Given the description of an element on the screen output the (x, y) to click on. 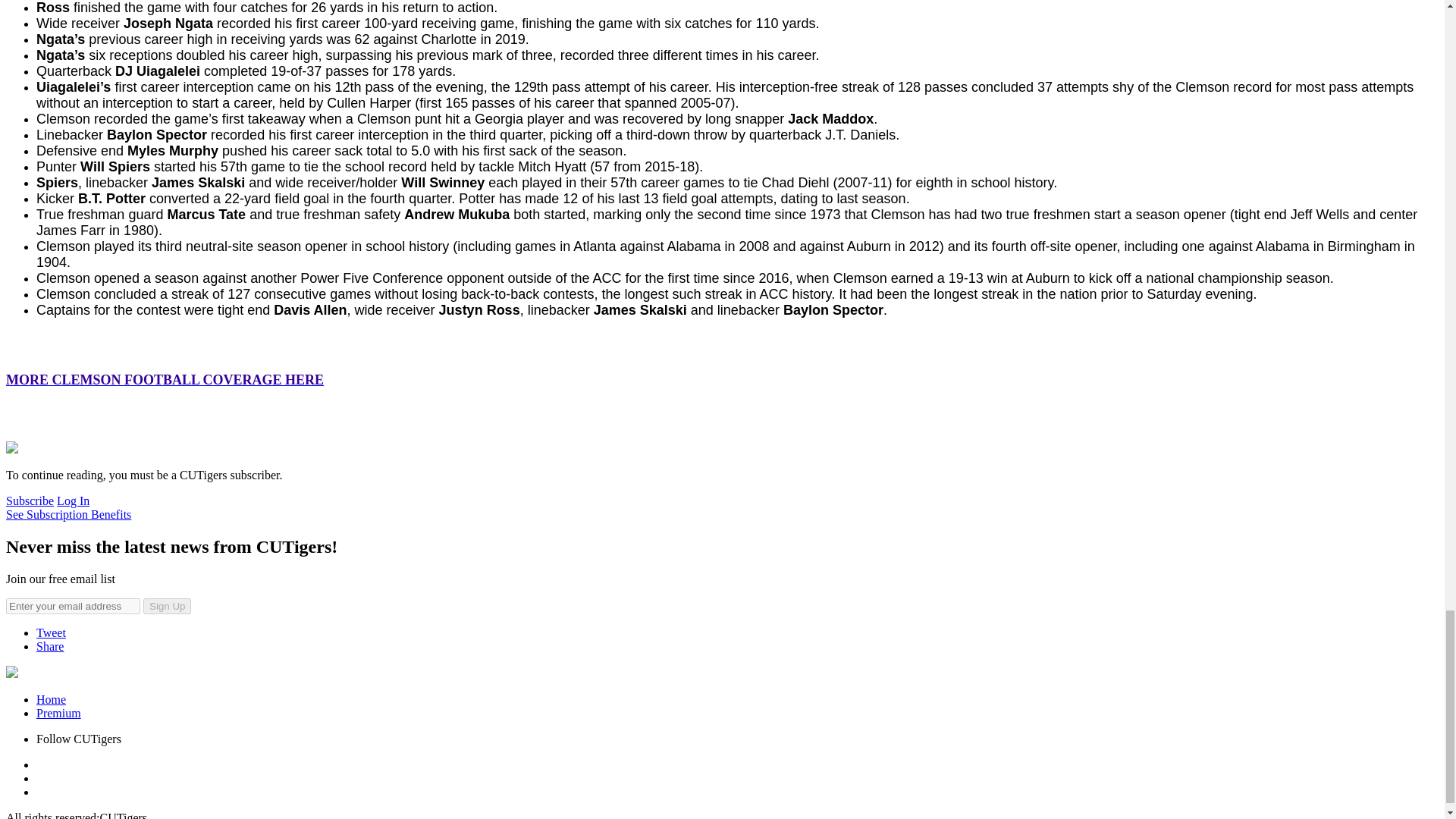
Share (50, 645)
Subscribe (29, 500)
Tweet (50, 632)
Sign Up (166, 606)
MORE CLEMSON FOOTBALL COVERAGE HERE (164, 379)
Home (50, 698)
Premium (58, 712)
Log In (72, 500)
See Subscription Benefits (68, 513)
